Given the description of an element on the screen output the (x, y) to click on. 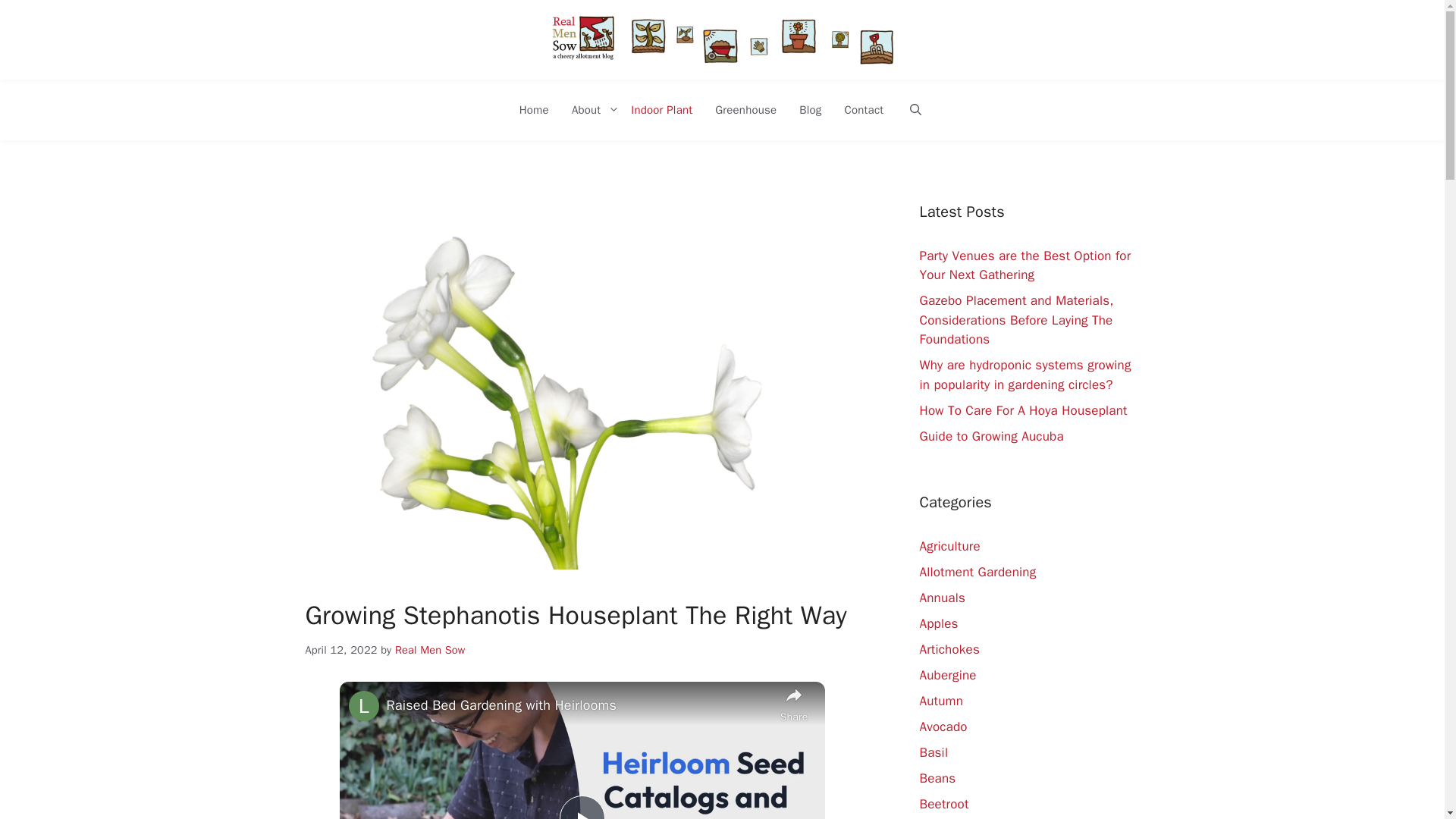
View all posts by Real Men Sow (429, 649)
Indoor Plant (661, 109)
Real Men Sow (429, 649)
About (590, 109)
Raised Bed Gardening with Heirlooms (580, 705)
Greenhouse (745, 109)
Play Video (582, 807)
Play Video (582, 807)
Contact (863, 109)
